Given the description of an element on the screen output the (x, y) to click on. 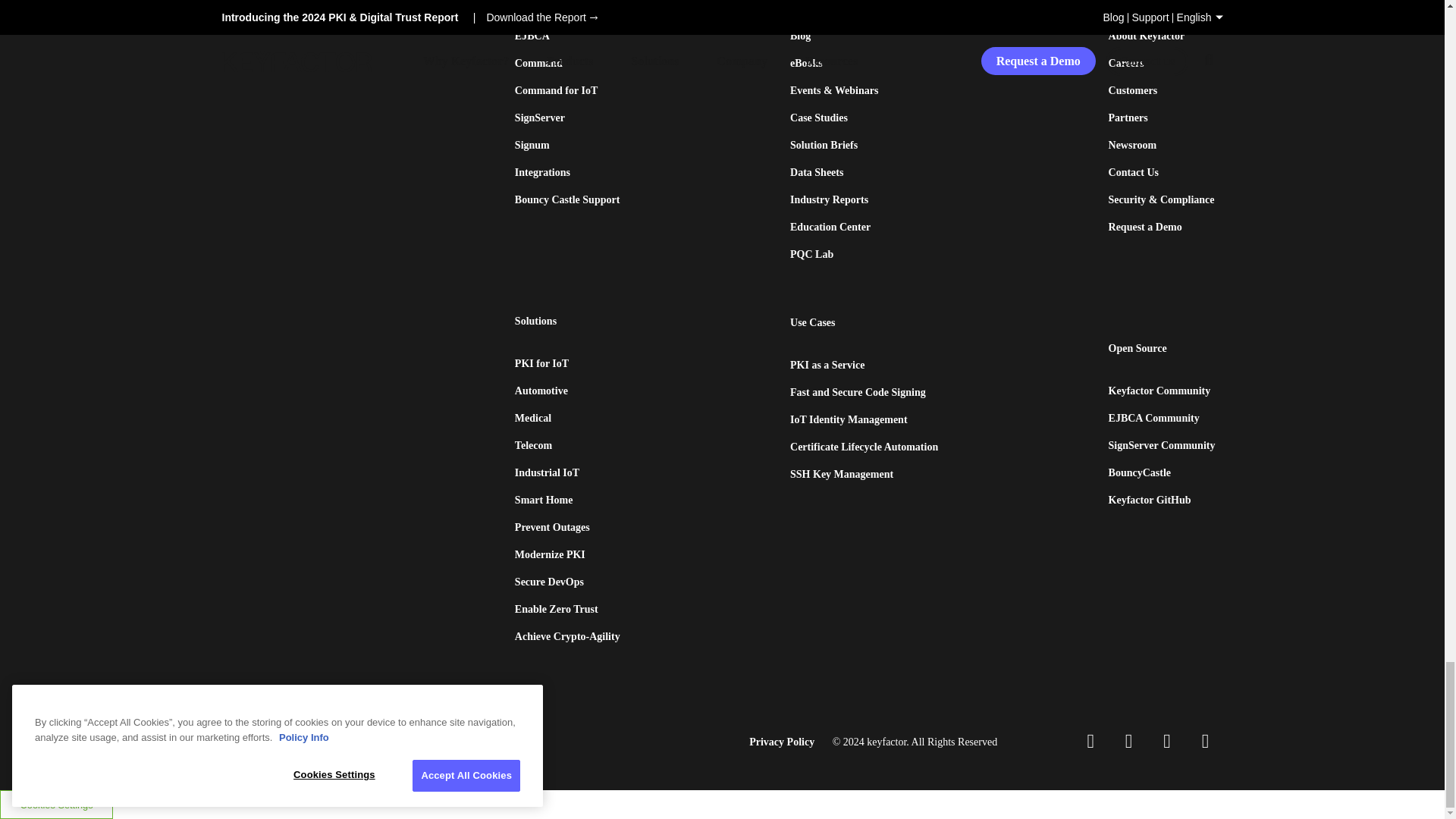
Linkedin (1090, 741)
Youtube (1128, 741)
Twitter (1204, 741)
Facebook (1166, 741)
